Given the description of an element on the screen output the (x, y) to click on. 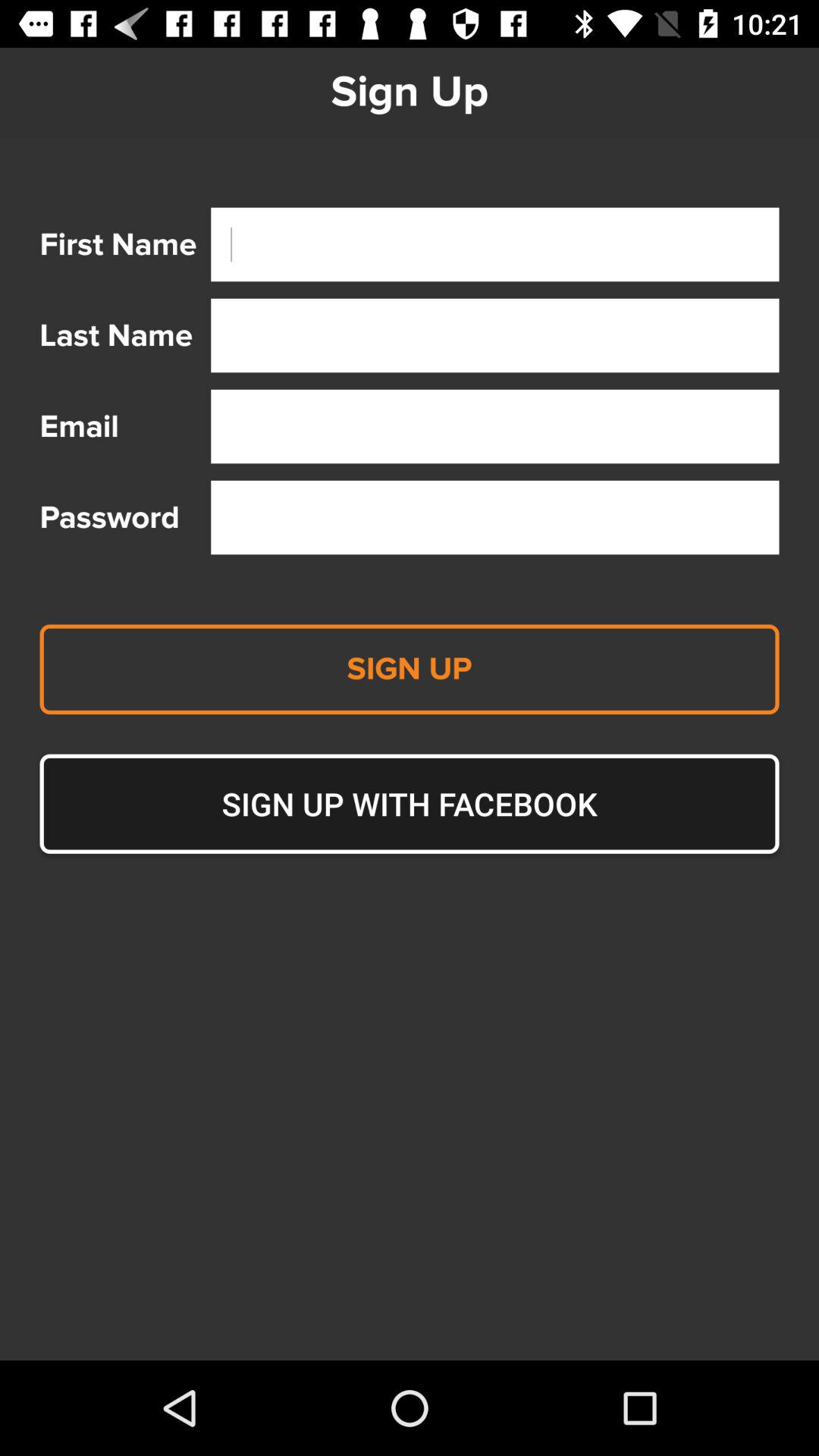
turn on the icon to the right of email icon (495, 426)
